Given the description of an element on the screen output the (x, y) to click on. 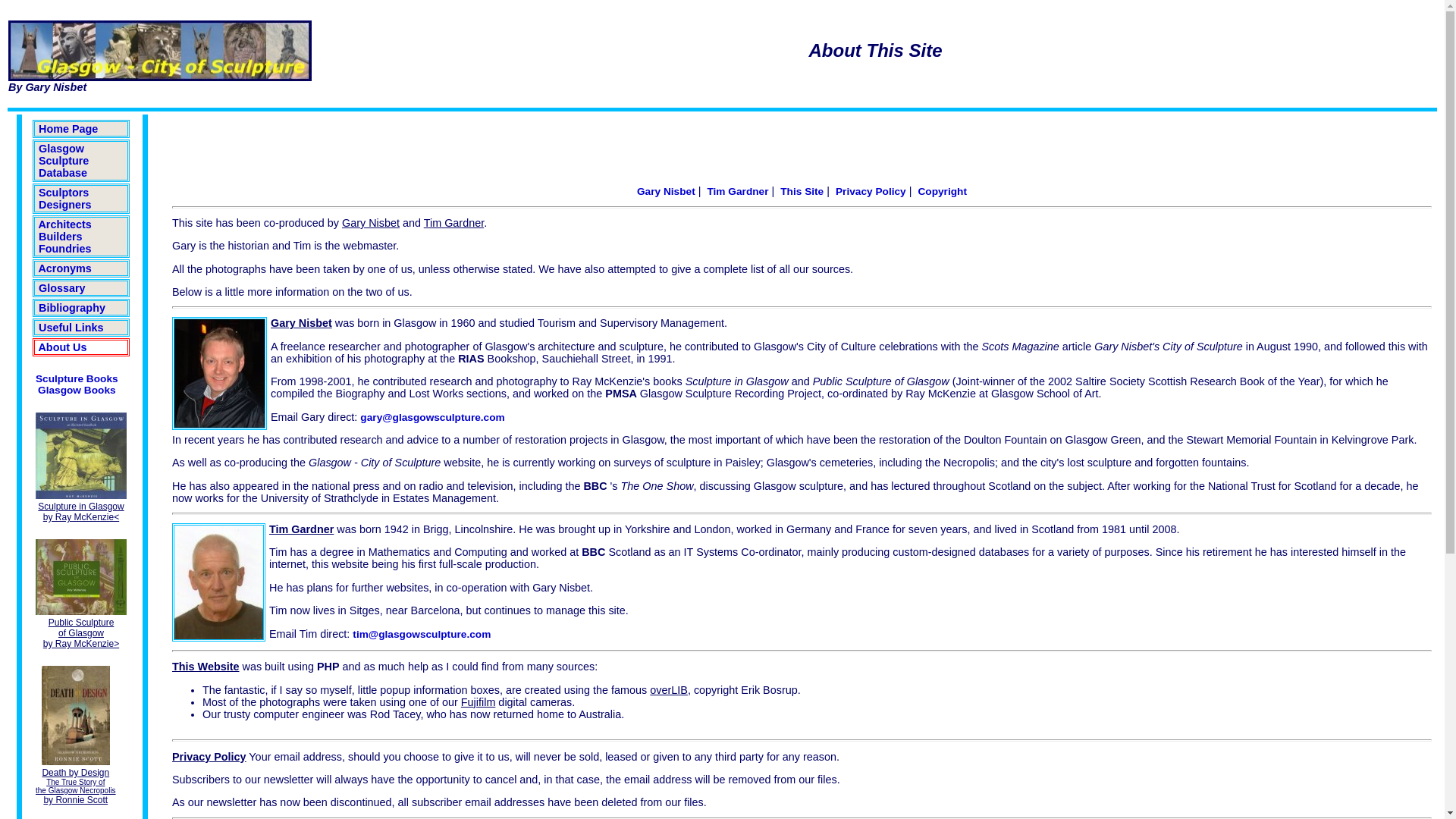
RIAS (470, 358)
Sculpture Books (75, 378)
BBC (592, 551)
overLIB (668, 689)
PMSA (621, 393)
BBC (595, 485)
PHP (328, 666)
This Site (802, 191)
Gary Nisbet (370, 223)
Glasgow Books (76, 389)
Fujifilm (478, 702)
Gary Nisbet (666, 191)
Copyright (941, 191)
Tim Gardner (737, 191)
Privacy Policy (870, 191)
